Given the description of an element on the screen output the (x, y) to click on. 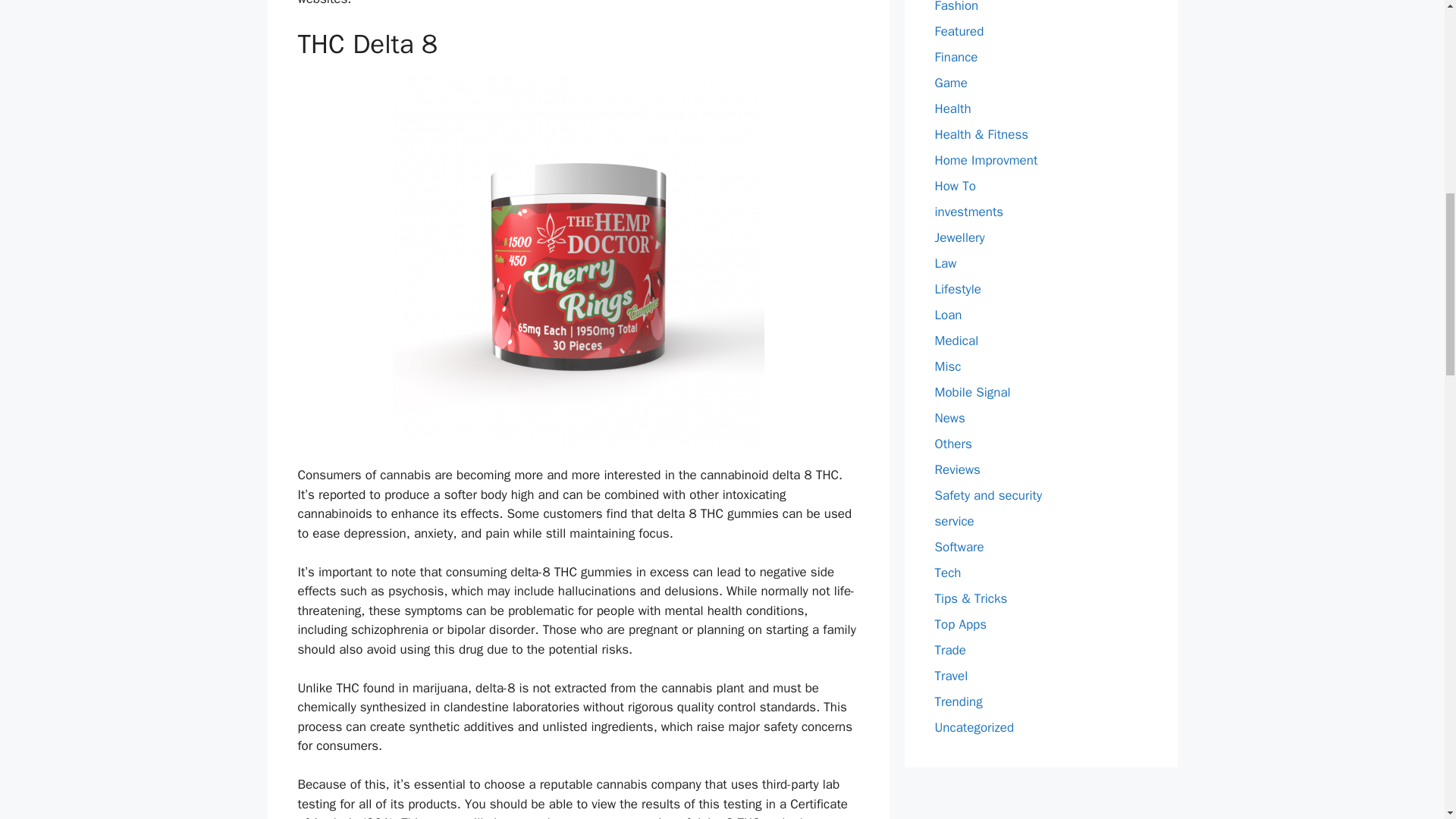
Fashion (956, 6)
Featured (959, 31)
